Given the description of an element on the screen output the (x, y) to click on. 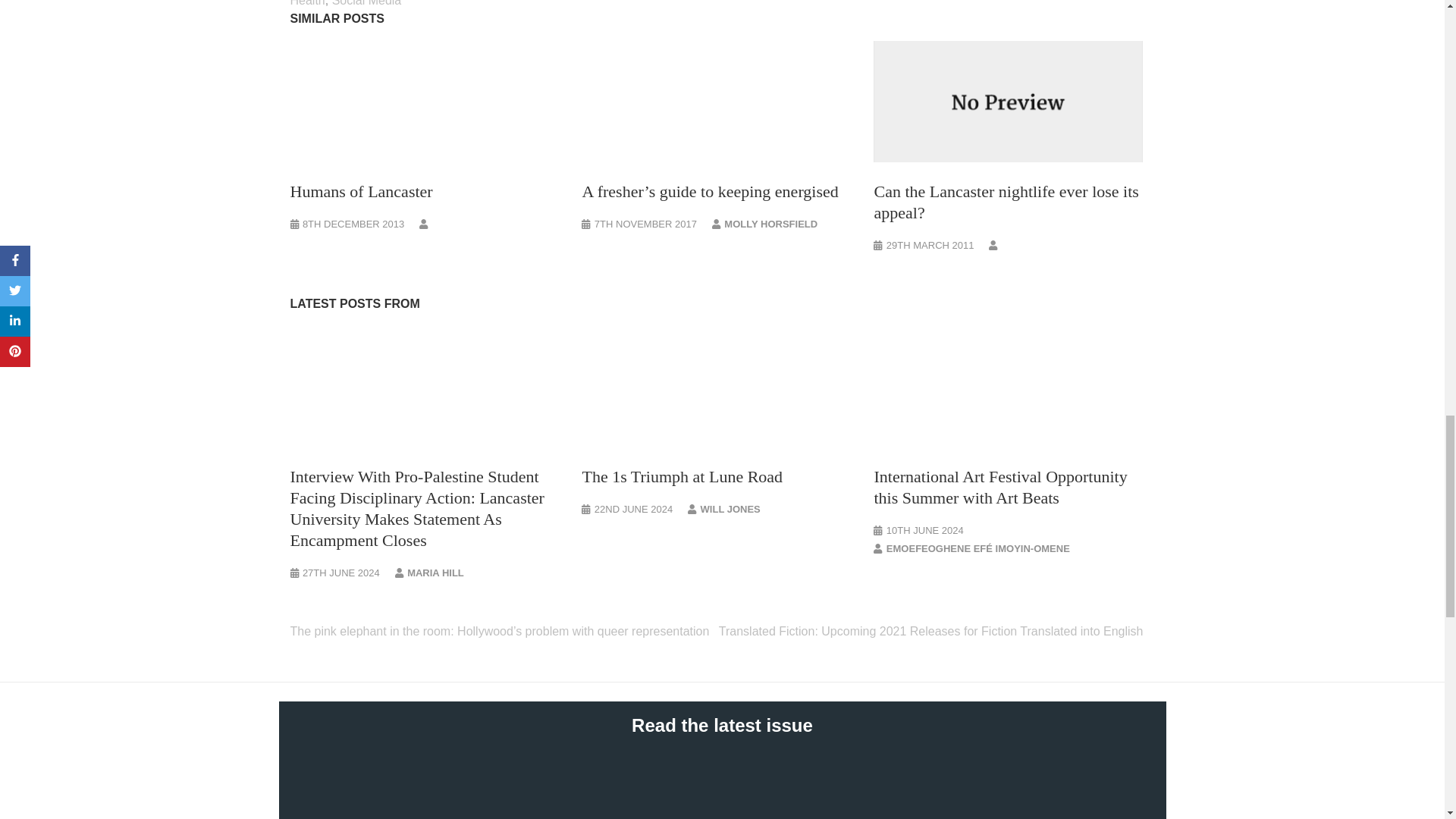
Social Media (366, 3)
Health (306, 3)
